Given the description of an element on the screen output the (x, y) to click on. 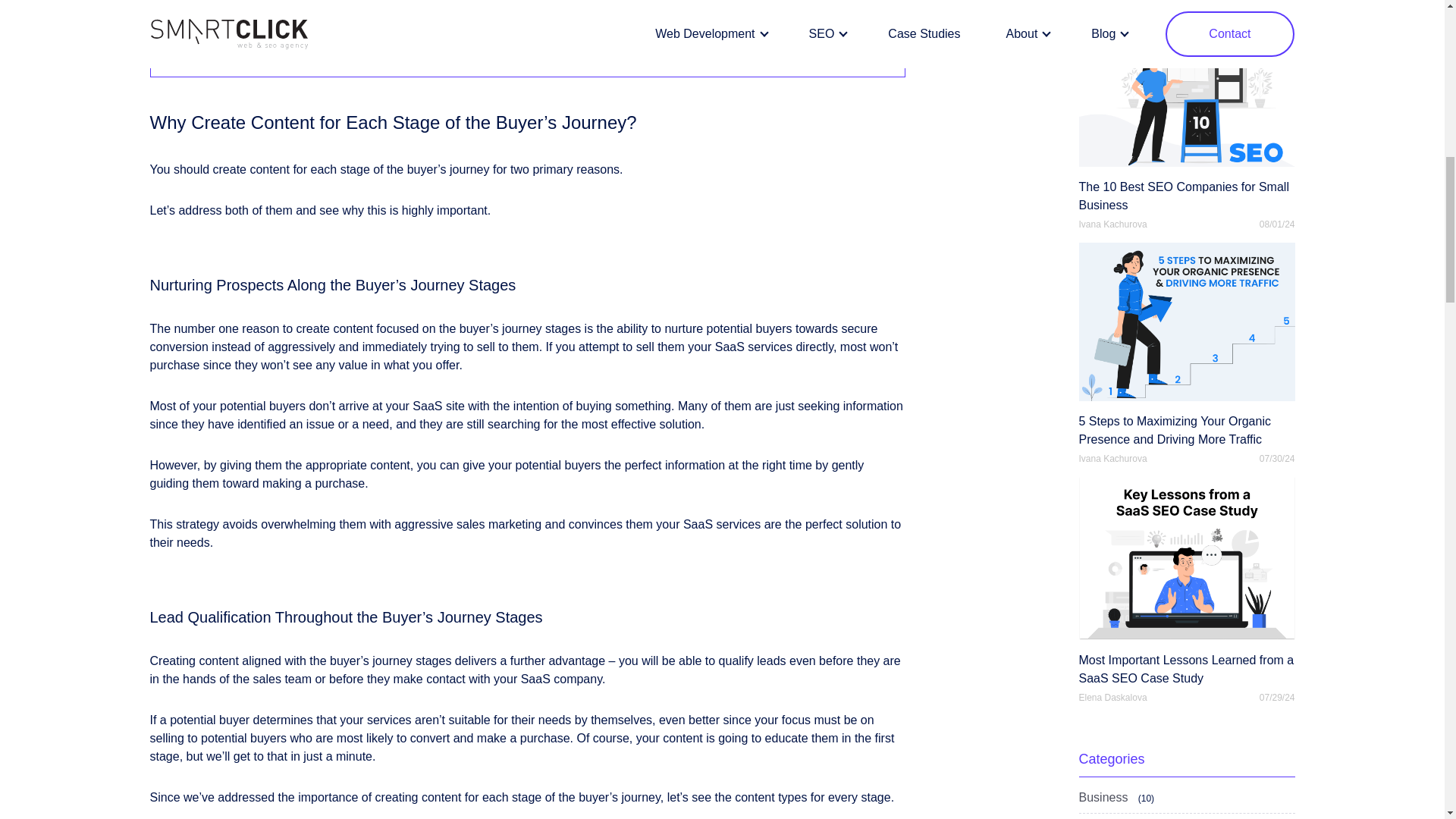
Content Types for the Consideration Stage (294, 29)
Most Important Lessons Learned from a SaaS SEO Case Study (1186, 581)
The 10 Best SEO Companies for Small Business (1186, 109)
Content Types for the Awareness Stage (286, 7)
Content Types for the Decision Stage (280, 51)
